Given the description of an element on the screen output the (x, y) to click on. 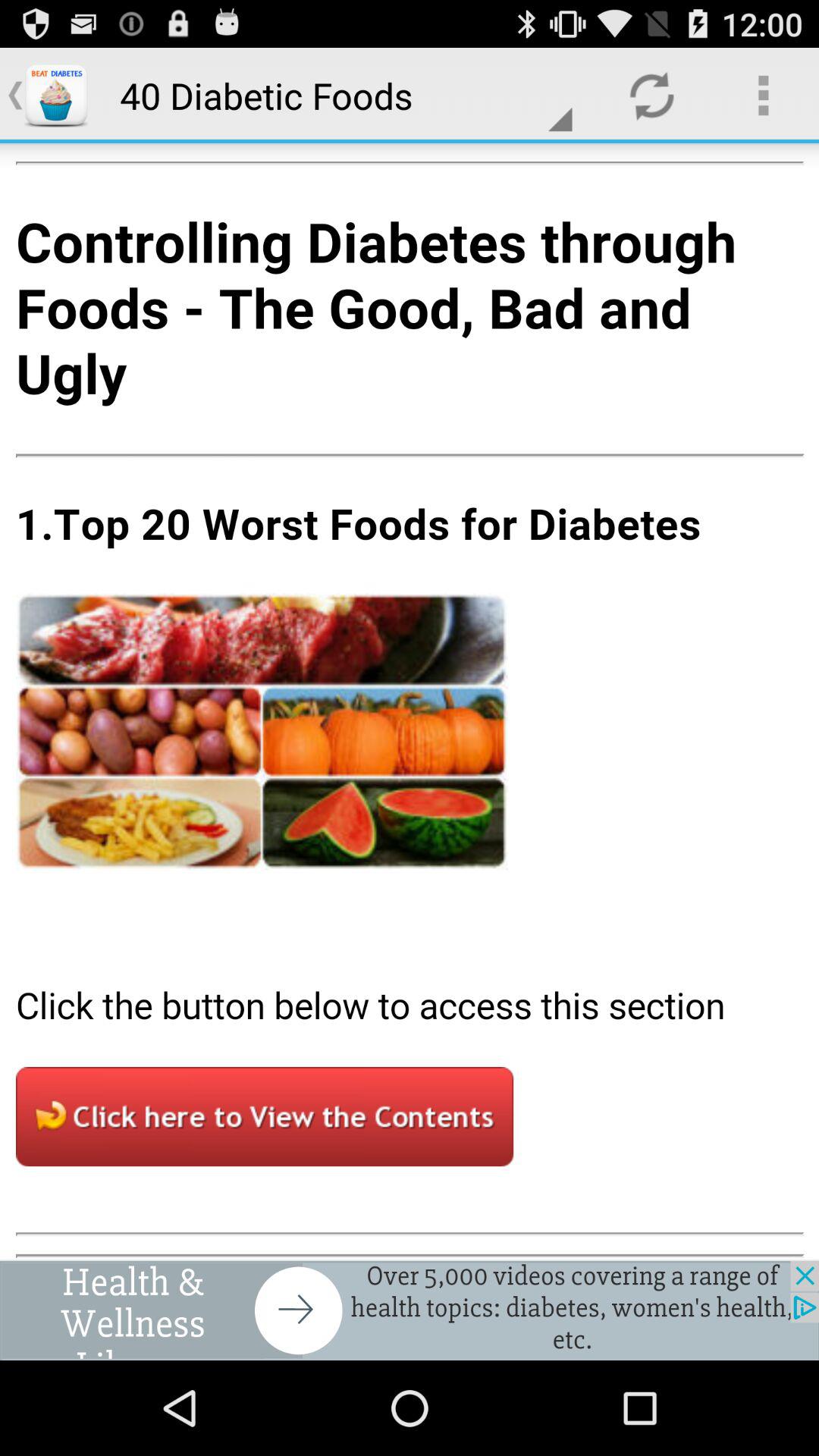
article in middle (409, 701)
